Given the description of an element on the screen output the (x, y) to click on. 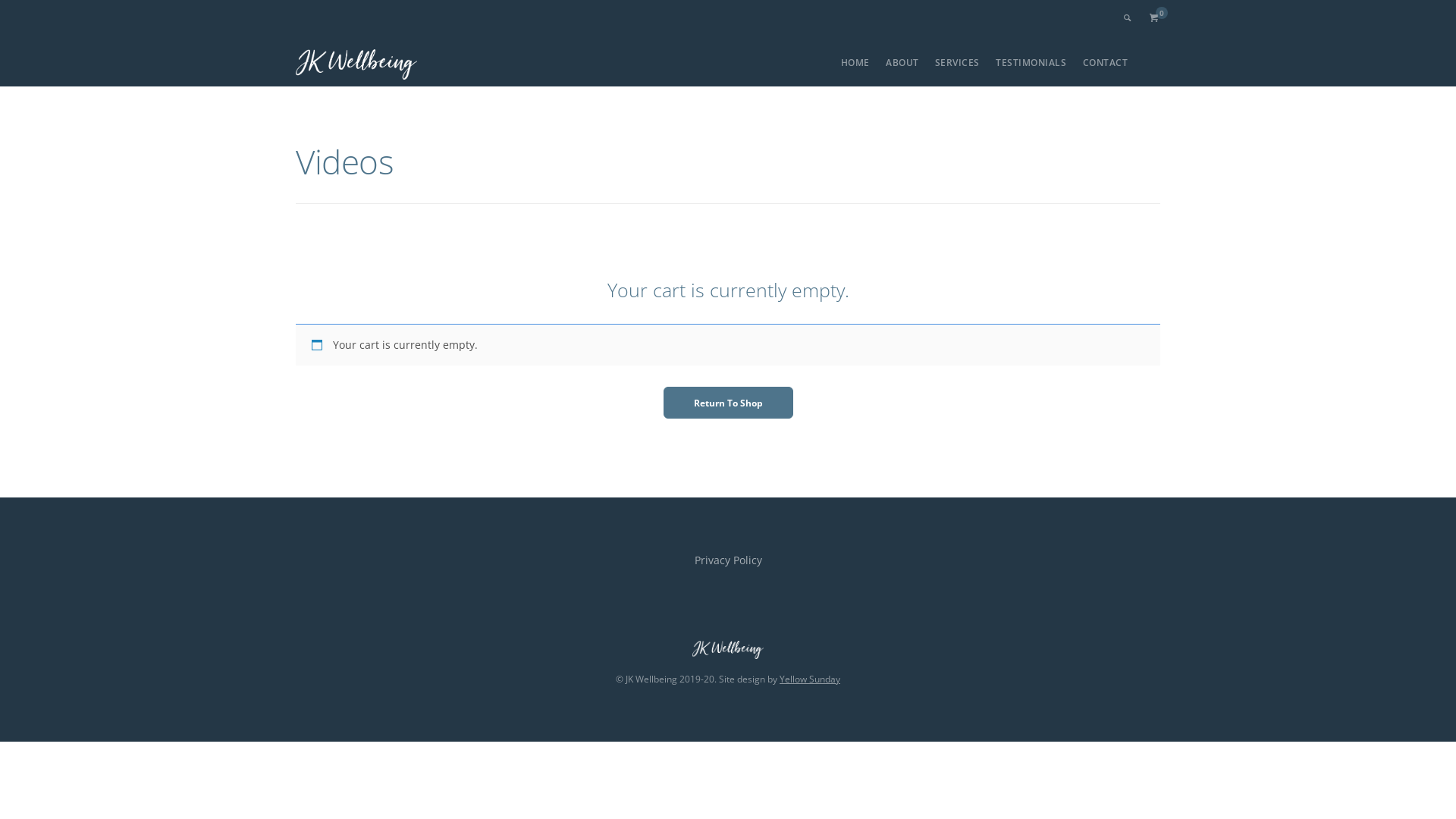
Yellow Sunday Element type: text (809, 678)
CONTACT Element type: text (1105, 62)
0 Element type: text (1153, 17)
Privacy Policy Element type: text (728, 559)
SERVICES Element type: text (957, 62)
Return To Shop Element type: text (727, 402)
HOME Element type: text (854, 62)
ABOUT Element type: text (902, 62)
TESTIMONIALS Element type: text (1030, 62)
